Given the description of an element on the screen output the (x, y) to click on. 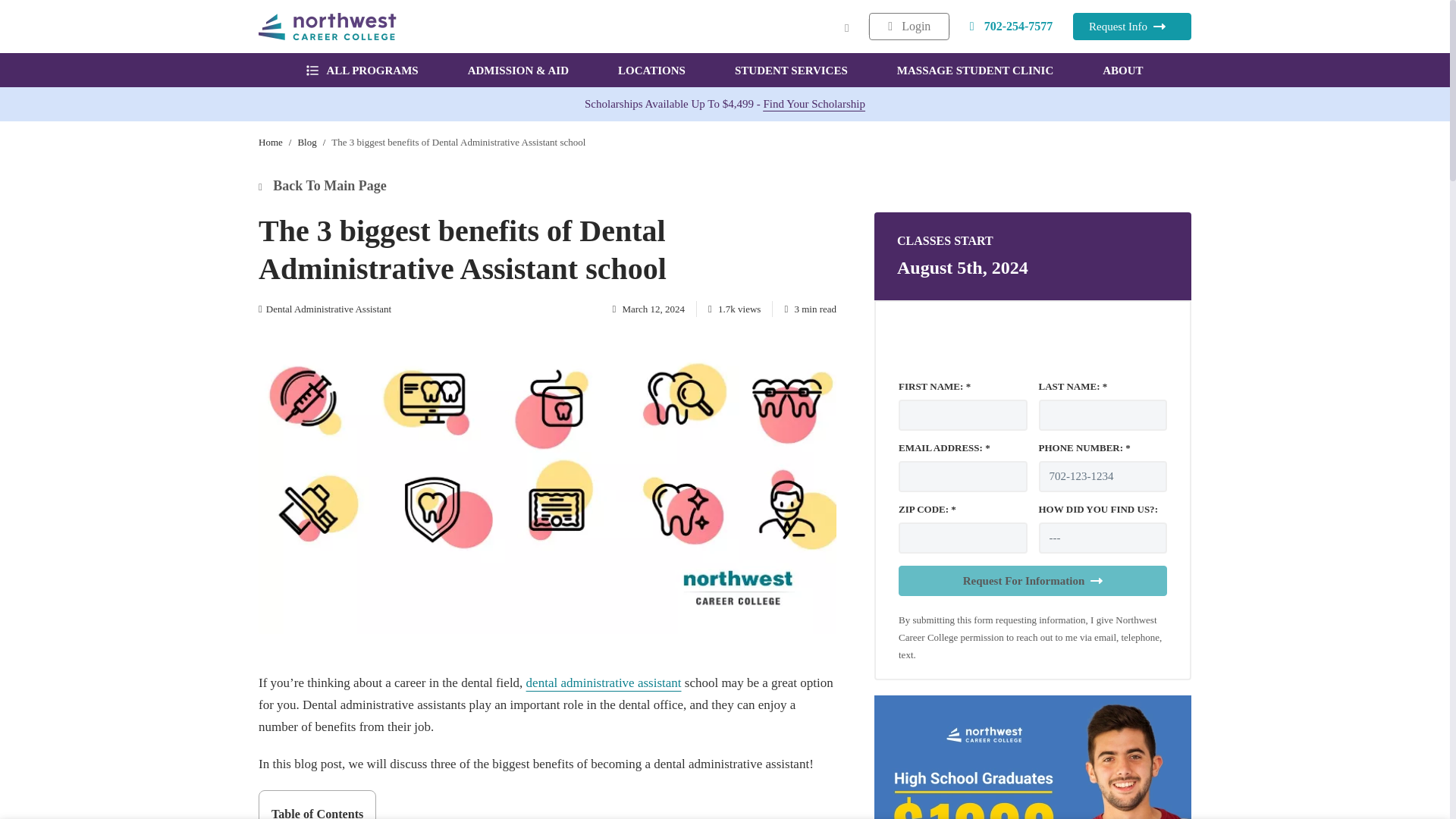
ALL PROGRAMS (362, 69)
702-254-7577 (1011, 26)
Login (909, 26)
Blog (306, 142)
Request Info (1132, 26)
